Given the description of an element on the screen output the (x, y) to click on. 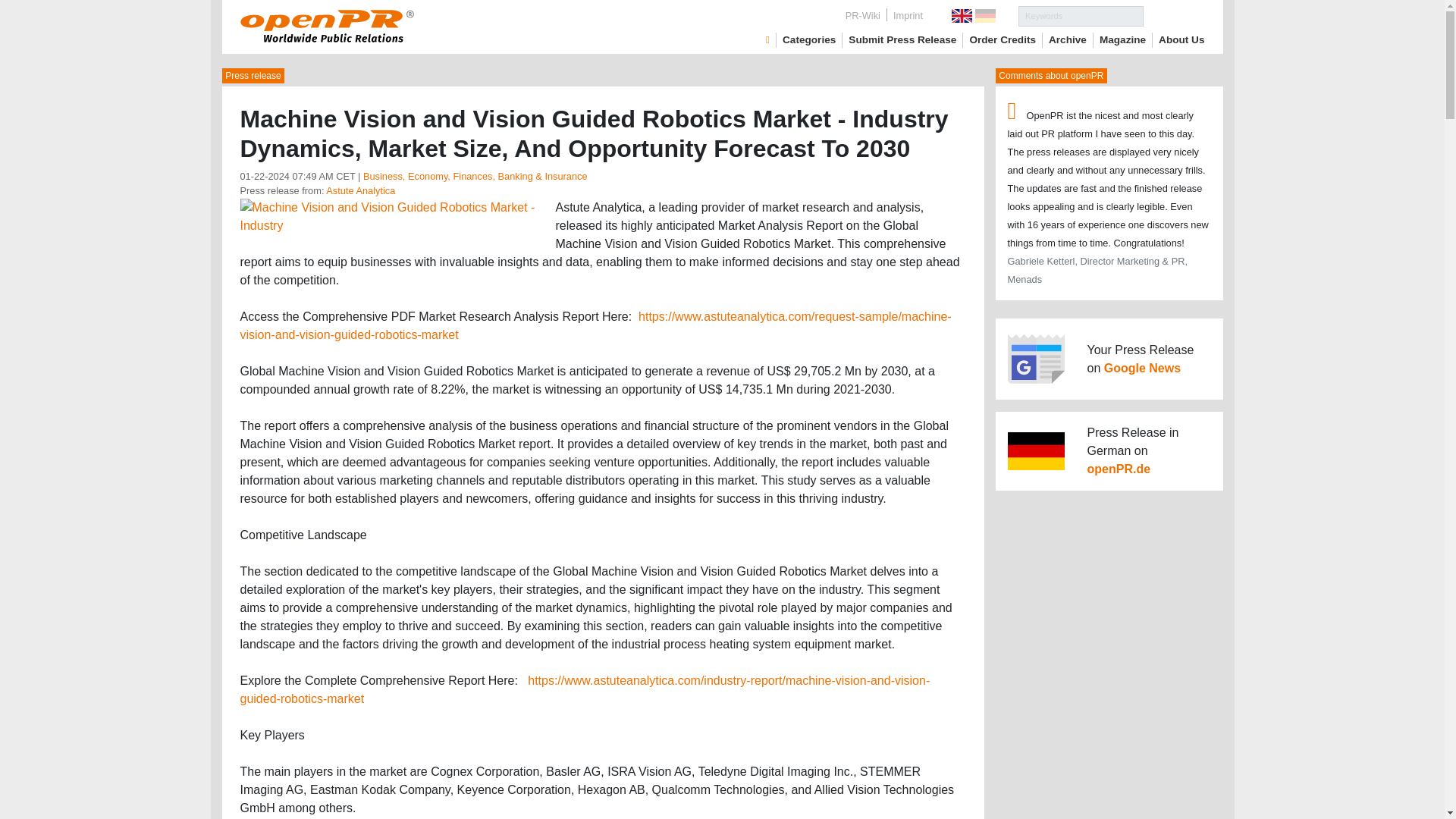
Order Credits (1002, 39)
Astute Analytica (360, 190)
PR-Wiki (863, 15)
Categories (809, 39)
Archive (1067, 39)
Submit Press Release (902, 39)
About Us (1181, 39)
Search   (1173, 15)
Magazine (1122, 39)
archive und pressrelease of Astute Analytica (360, 190)
